Given the description of an element on the screen output the (x, y) to click on. 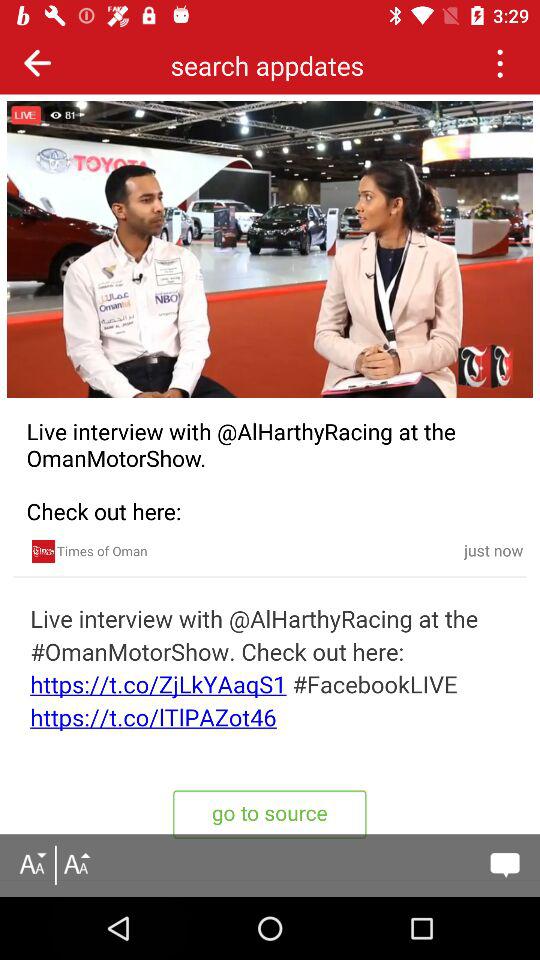
go back (37, 62)
